Given the description of an element on the screen output the (x, y) to click on. 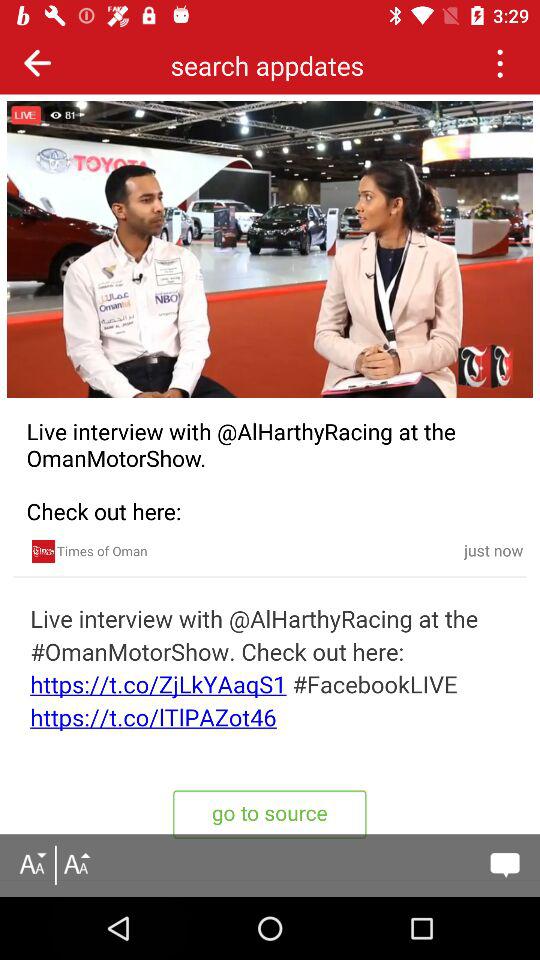
go back (37, 62)
